Given the description of an element on the screen output the (x, y) to click on. 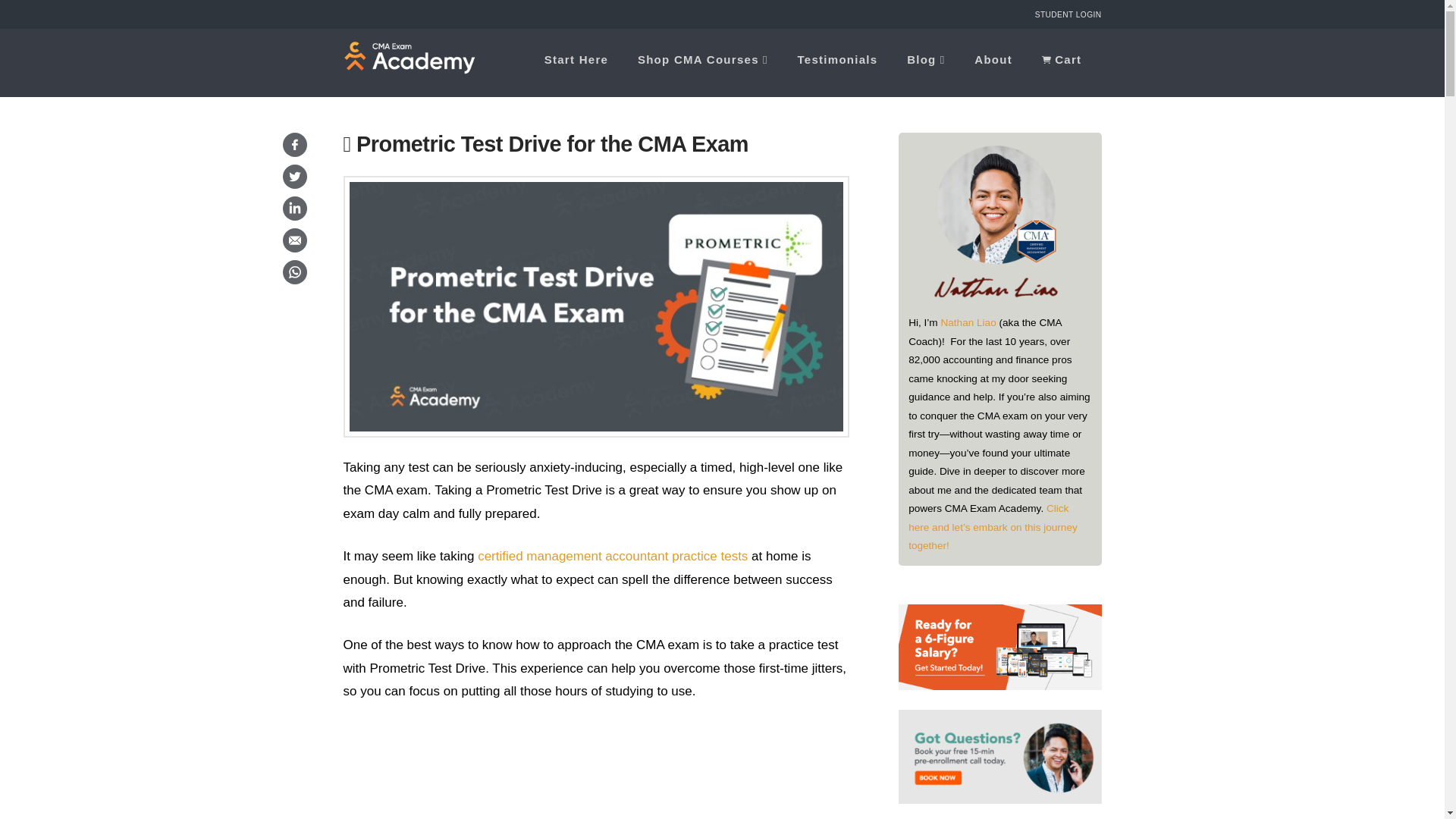
Testimonials (837, 62)
Start Here (576, 62)
STUDENT LOGIN (1068, 14)
About (992, 62)
Cart (1064, 62)
Blog (925, 62)
Shop CMA Courses (703, 62)
Prometric CMA - In-Person Exam Practice (595, 771)
